Given the description of an element on the screen output the (x, y) to click on. 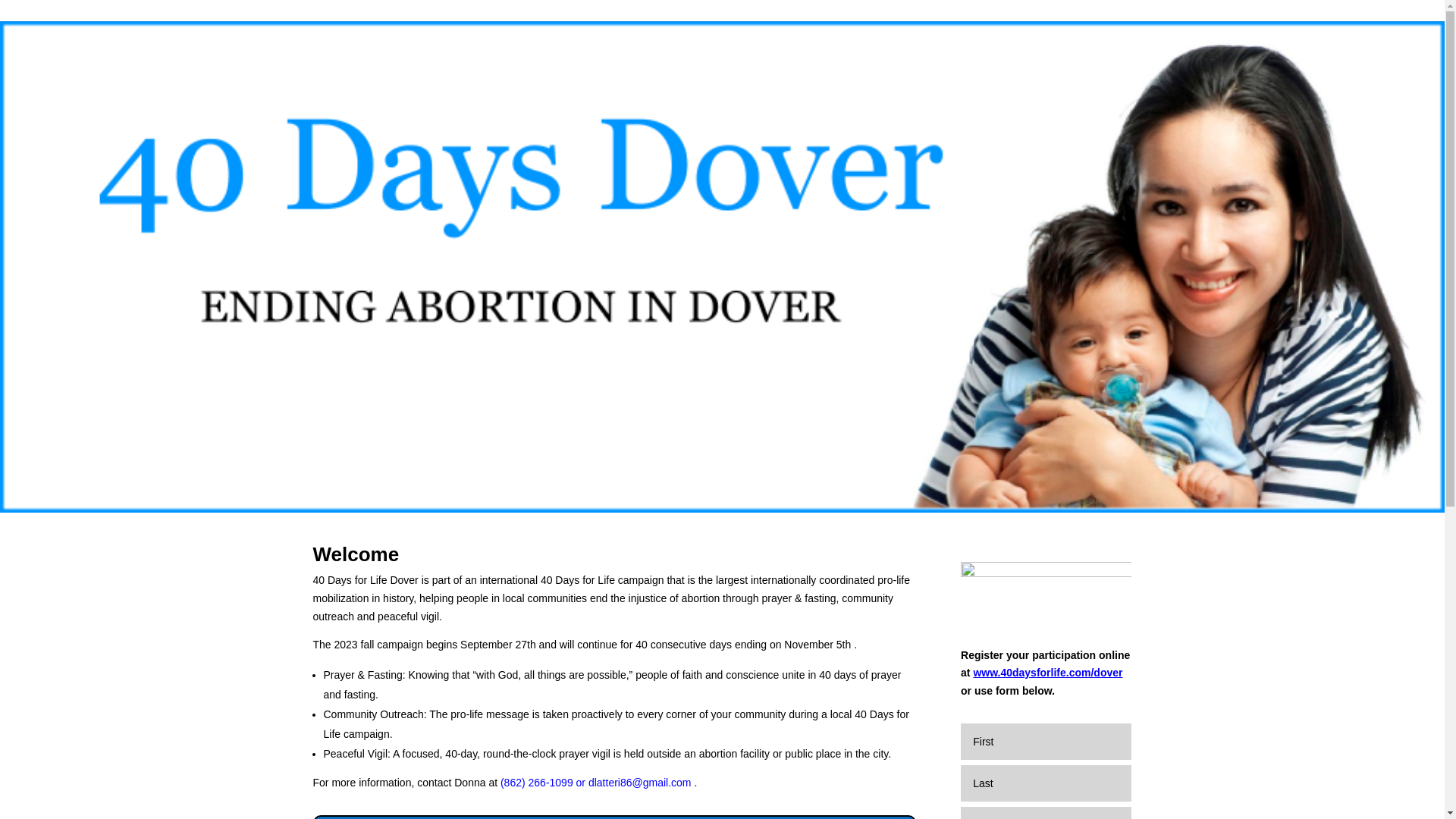
www.40daysforlife.com/dover Element type: text (1047, 672)
(862) 266-1099 or dlatteri86@gmail.com Element type: text (593, 782)
40 Days Dover Website Logo with Mother and Baby Element type: hover (722, 266)
